Given the description of an element on the screen output the (x, y) to click on. 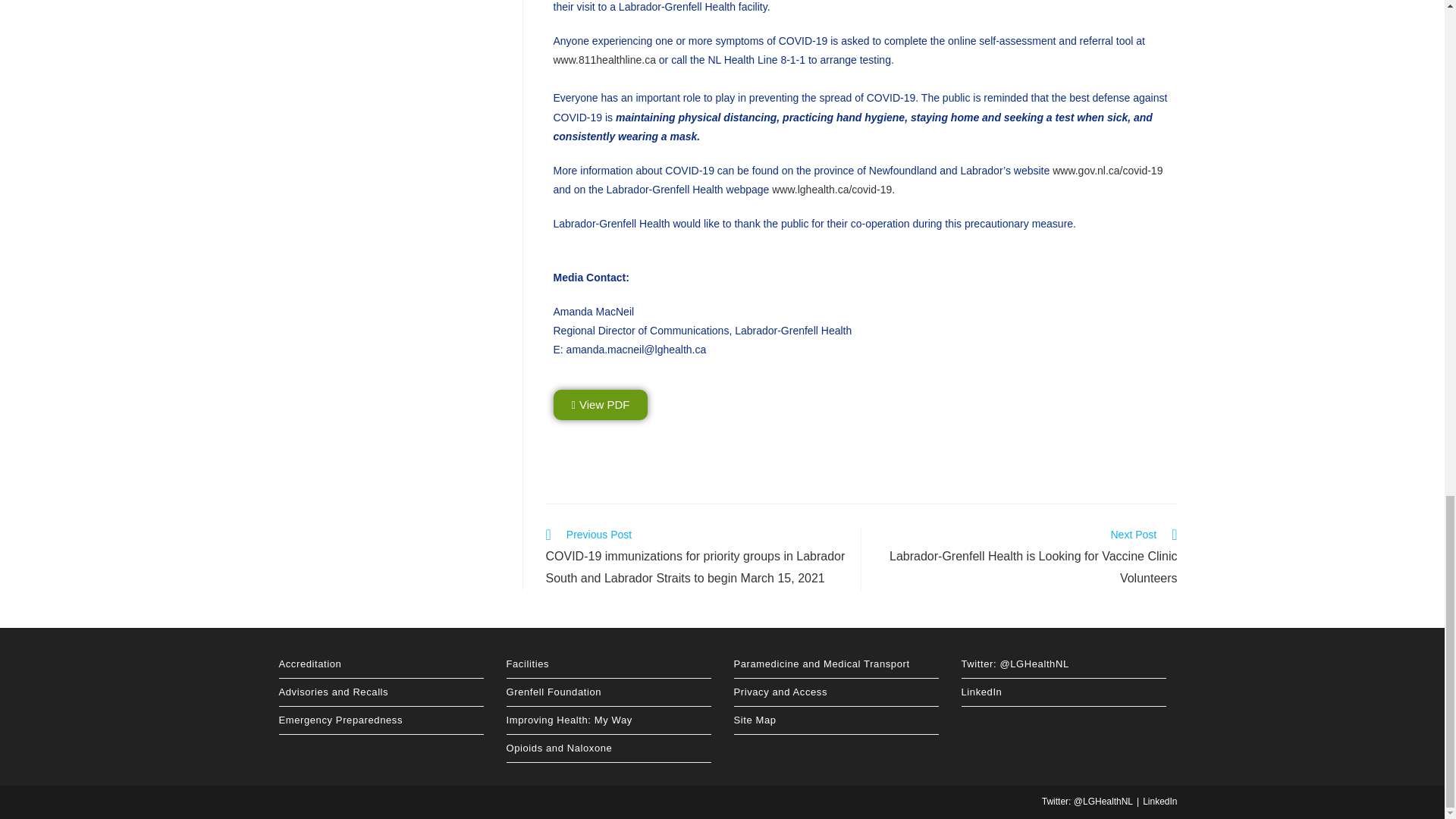
Facilities (608, 664)
View PDF (600, 404)
Emergency Preparedness (381, 719)
Advisories and Recalls (381, 691)
Accreditation (381, 664)
Grenfell Foundation (608, 691)
www.811healthline.ca (604, 60)
